Given the description of an element on the screen output the (x, y) to click on. 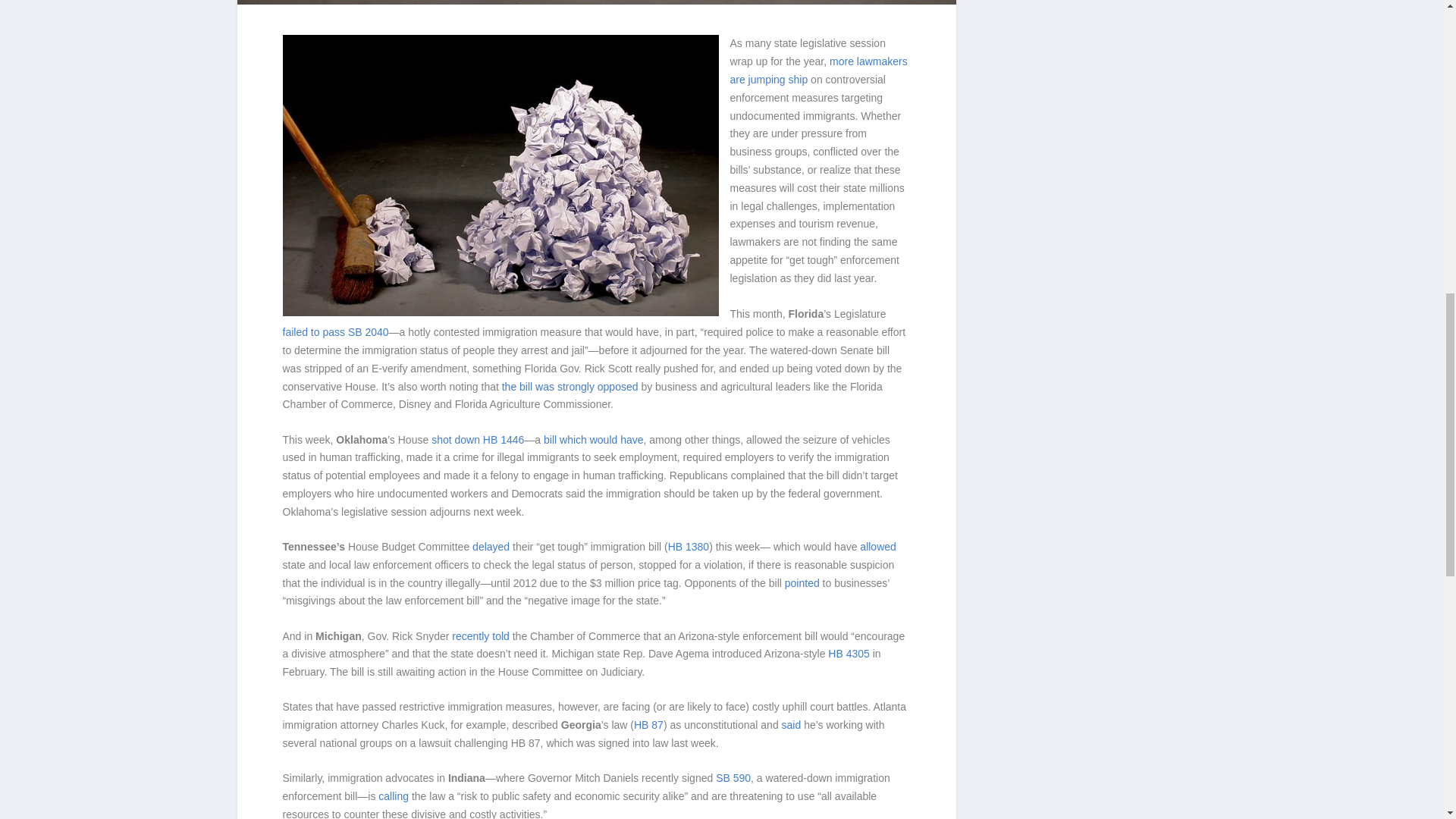
pointed (801, 582)
HB 87 (648, 725)
recently told (479, 635)
allowed (877, 546)
said (791, 725)
bill which would have (593, 439)
the bill was strongly opposed (570, 386)
SB 2040 (367, 331)
HB 1380 (688, 546)
SB 590 (733, 777)
